Given the description of an element on the screen output the (x, y) to click on. 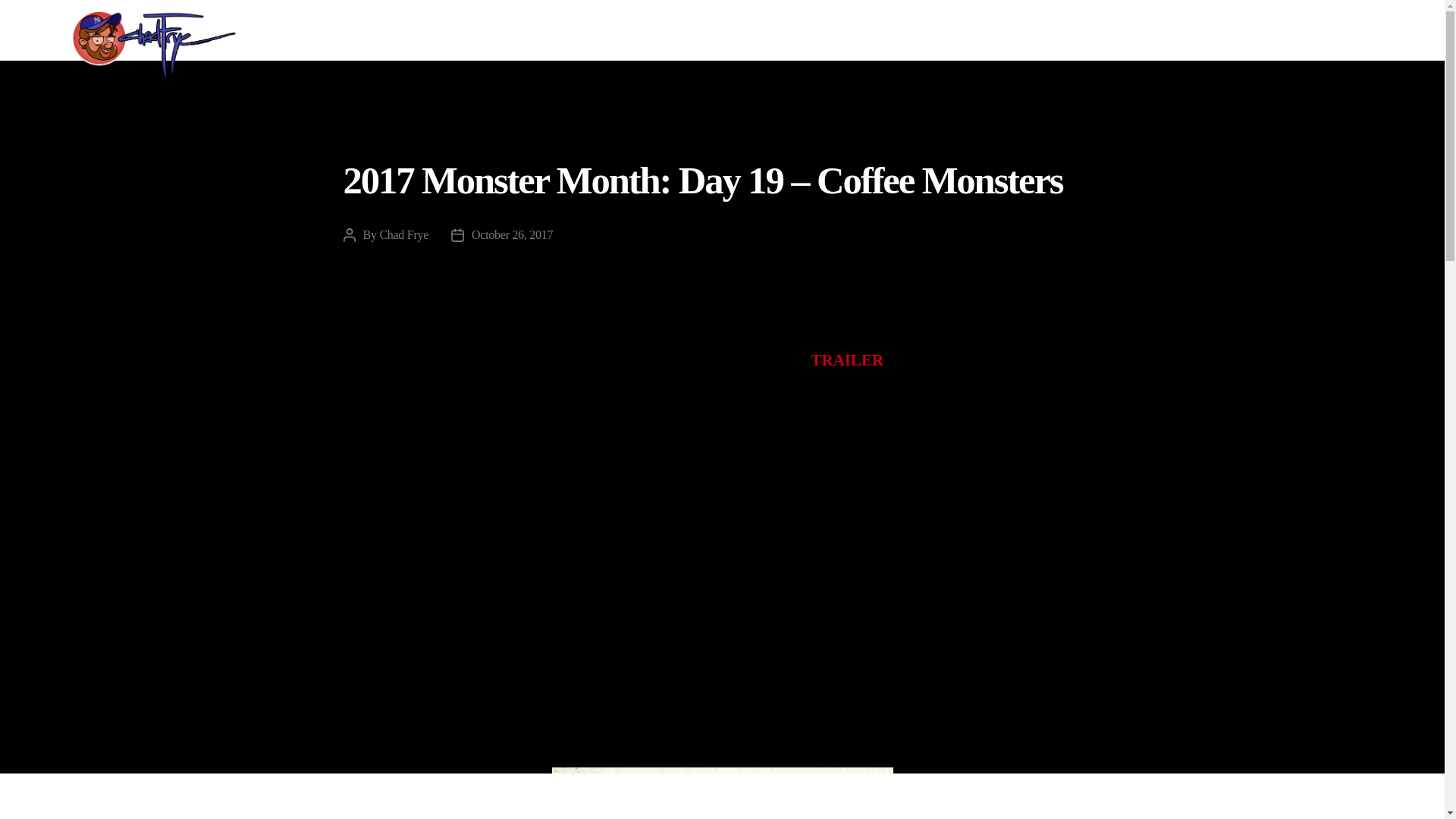
Comics (1225, 32)
Blog (1347, 32)
Home (967, 32)
Chad Frye (403, 234)
Animation (1095, 32)
Illustration (1026, 32)
October 26, 2017 (512, 234)
Caricature (1164, 32)
Sketchbook (1289, 32)
TRAILER (846, 360)
